Given the description of an element on the screen output the (x, y) to click on. 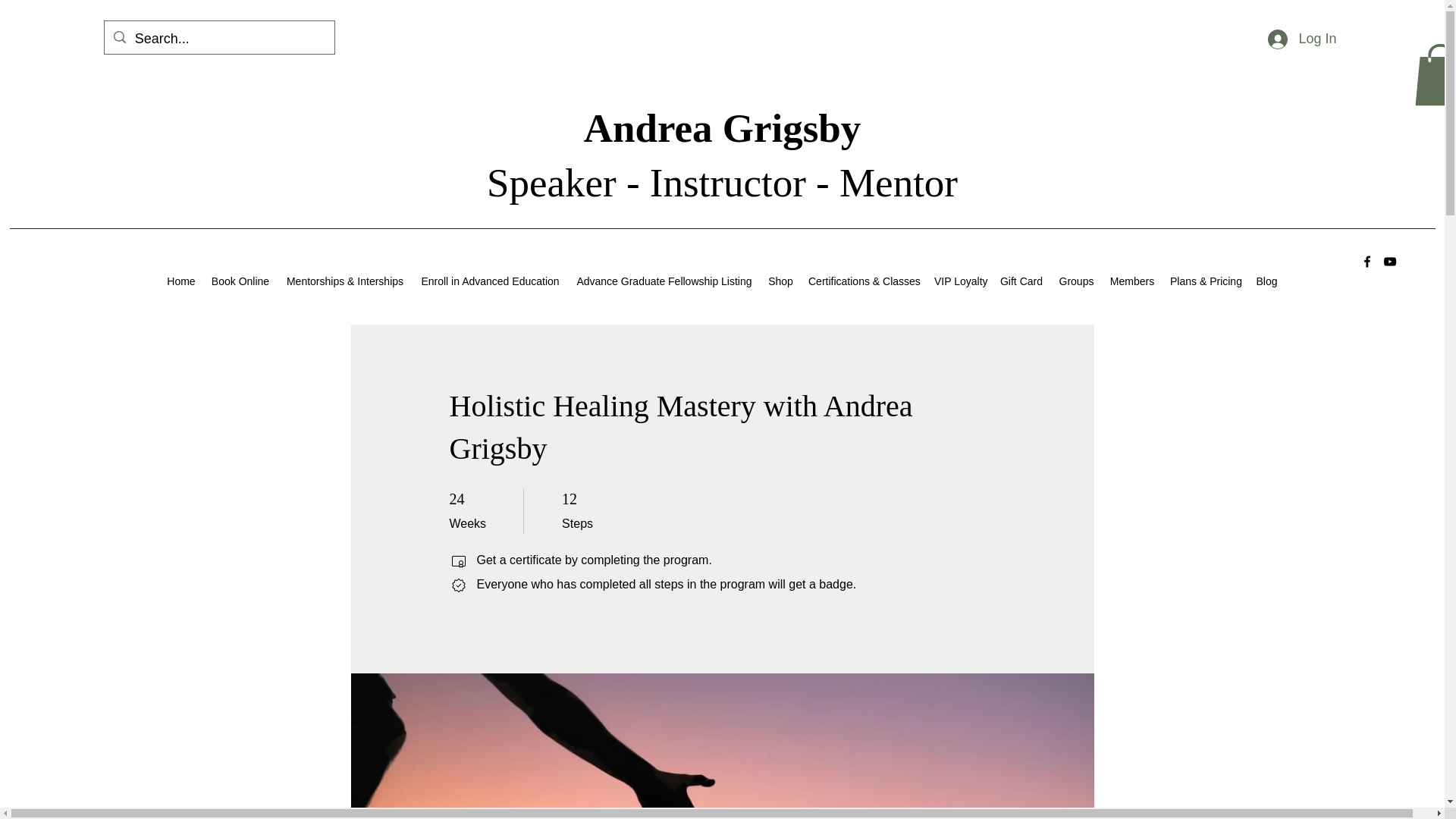
Book Online (240, 281)
Log In (1301, 39)
Advance Graduate Fellowship Listing (663, 281)
Enroll in Advanced Education (489, 281)
VIP Loyalty (958, 281)
